Given the description of an element on the screen output the (x, y) to click on. 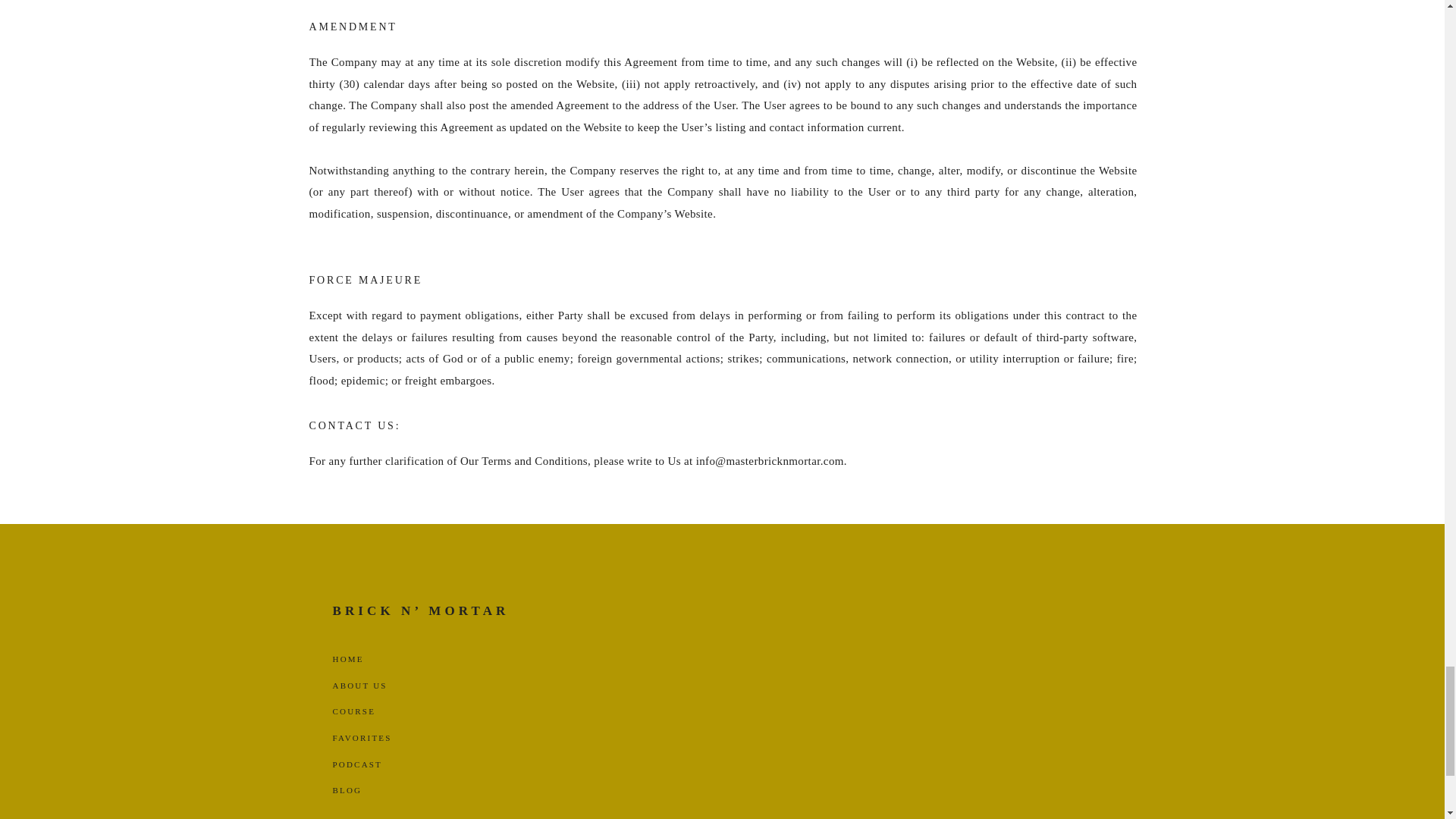
FORCE MAJEURE (614, 281)
HOME (346, 661)
CONTACT US: (614, 427)
AMENDMENT  (614, 28)
